Given the description of an element on the screen output the (x, y) to click on. 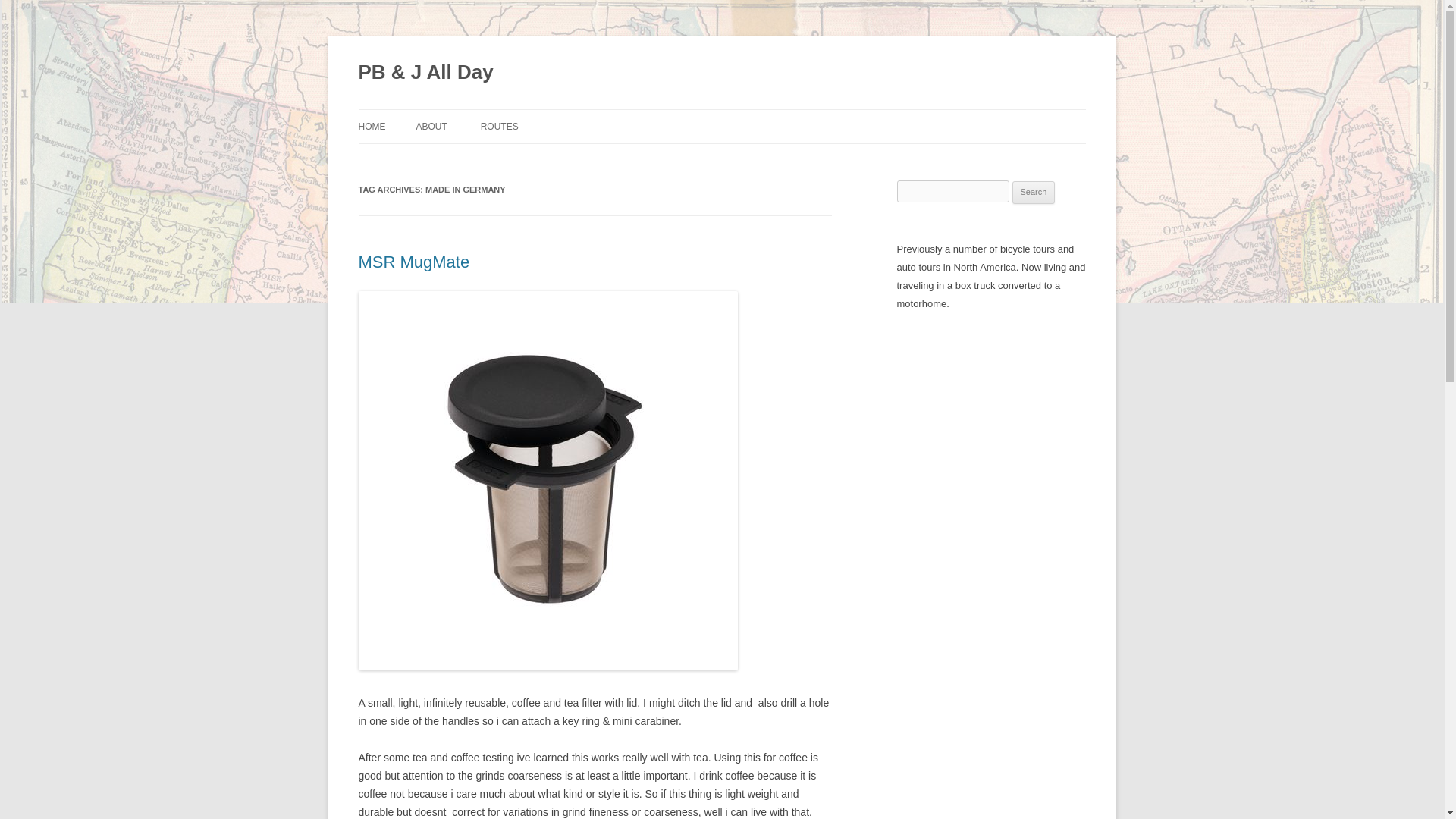
Search (1033, 191)
Skip to content (757, 113)
ROUTES (499, 126)
ABOUT (430, 126)
Skip to content (757, 113)
Search (1033, 191)
MSR MugMate (413, 261)
